Given the description of an element on the screen output the (x, y) to click on. 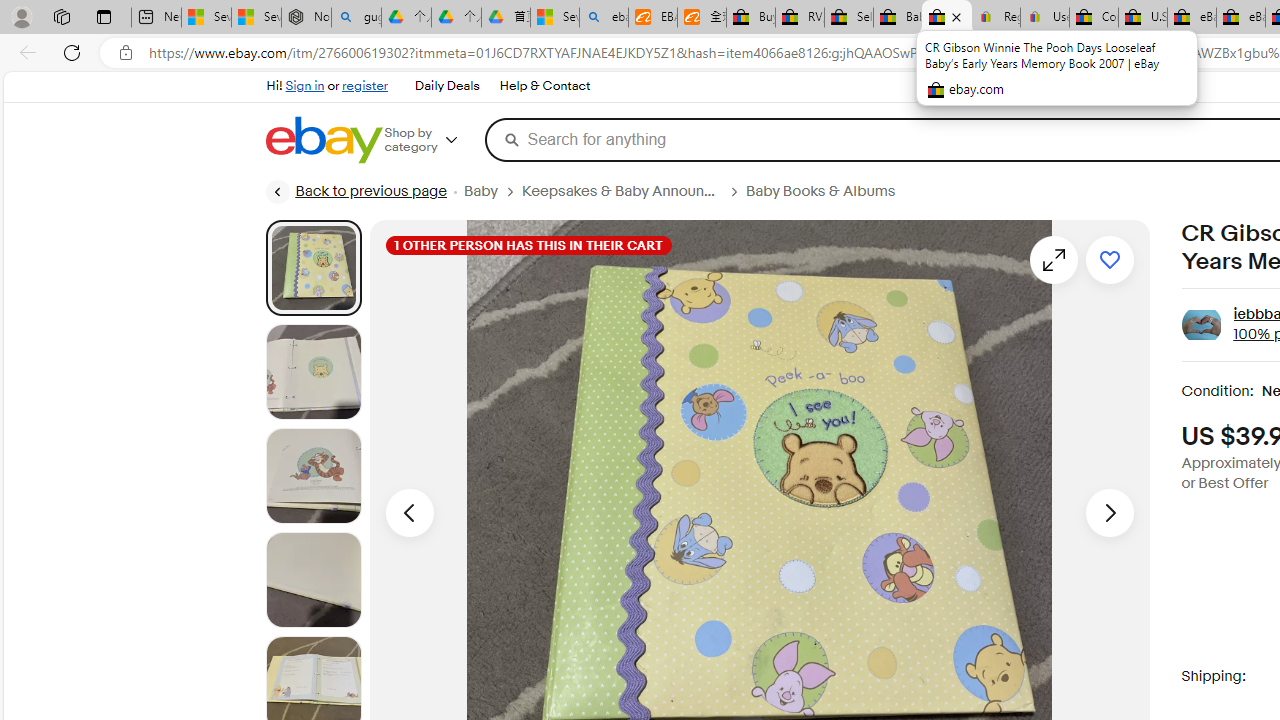
Daily Deals (446, 85)
Daily Deals (447, 86)
eBay Inc. Reports Third Quarter 2023 Results (1240, 17)
Picture 1 of 22 (313, 267)
Back to previous page (355, 191)
Register: Create a personal eBay account (995, 17)
Previous image - Item images thumbnails (409, 512)
Shop by category (434, 140)
Sign in (305, 85)
